Given the description of an element on the screen output the (x, y) to click on. 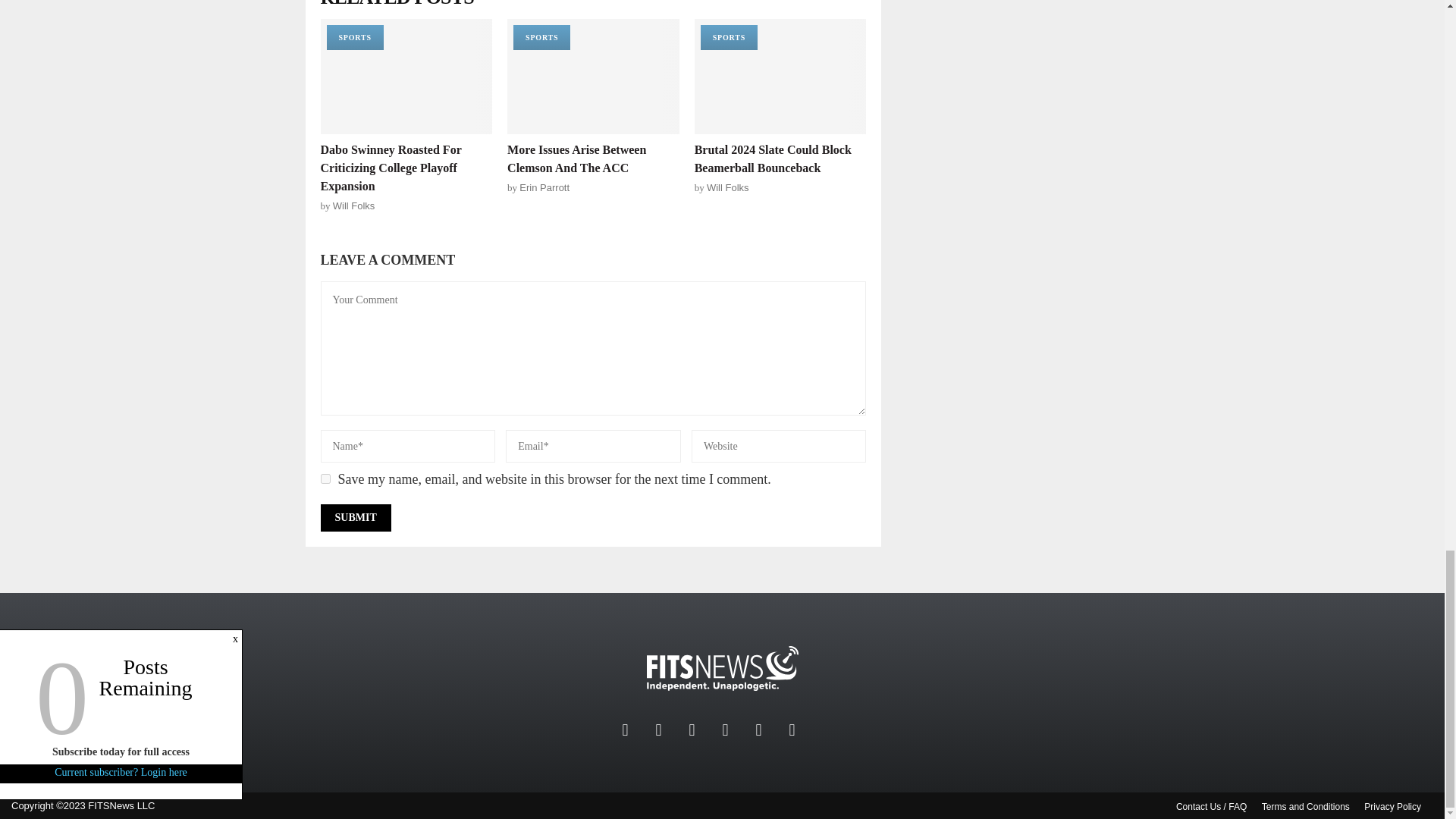
Submit (355, 517)
yes (325, 479)
